Given the description of an element on the screen output the (x, y) to click on. 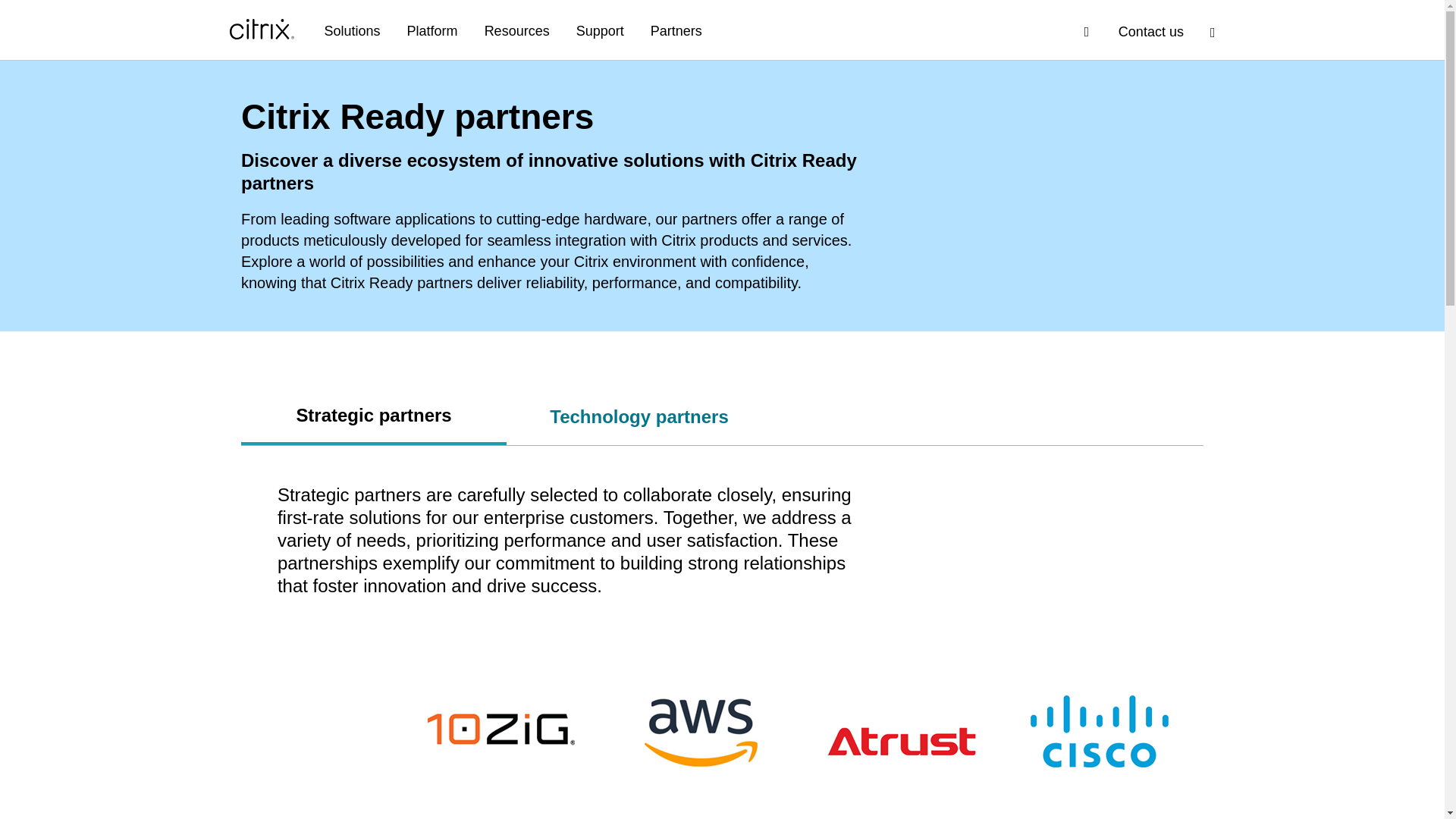
Solutions (352, 31)
Platform (432, 31)
Resources (517, 31)
